Given the description of an element on the screen output the (x, y) to click on. 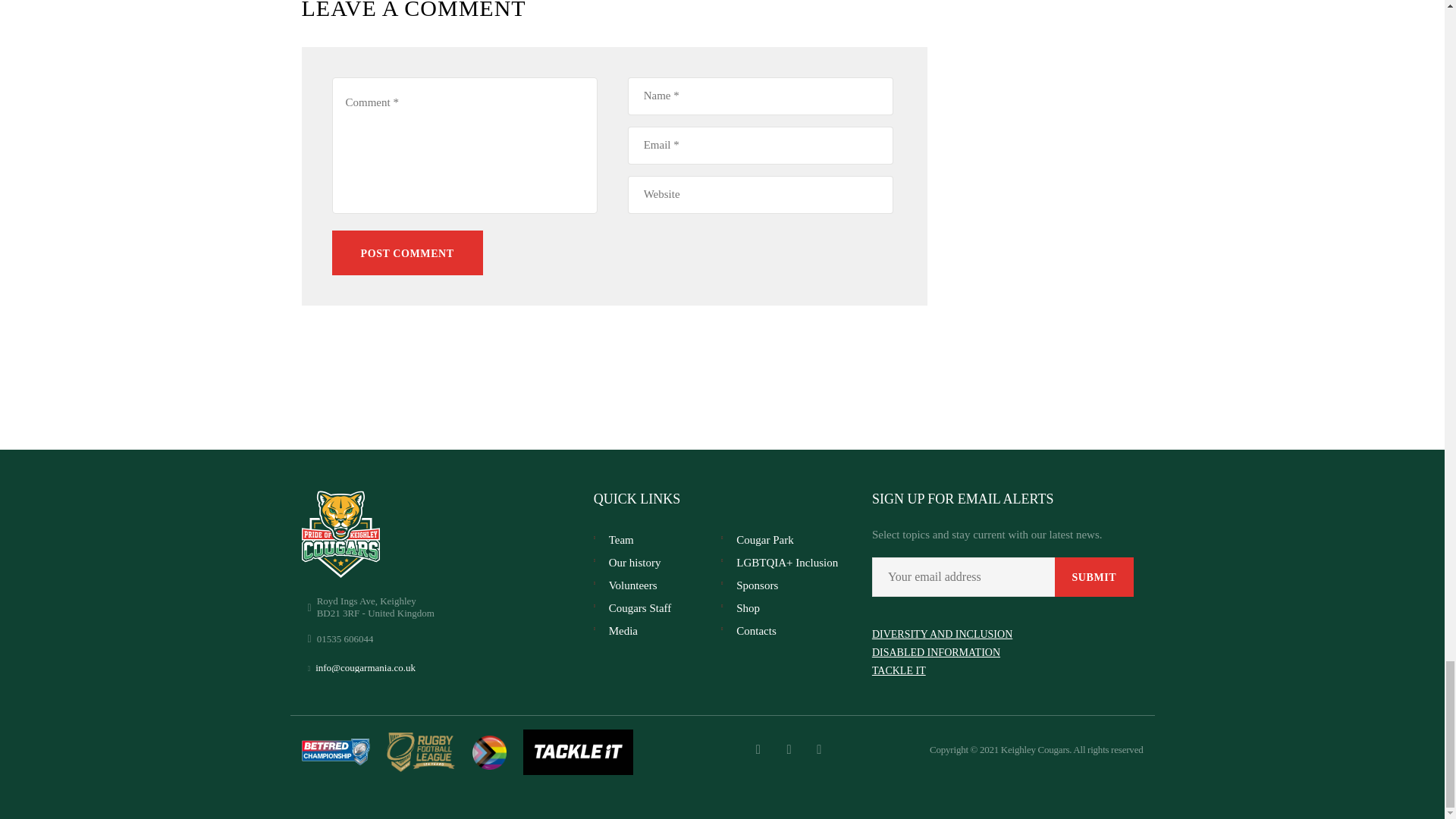
Post Comment (407, 252)
